Given the description of an element on the screen output the (x, y) to click on. 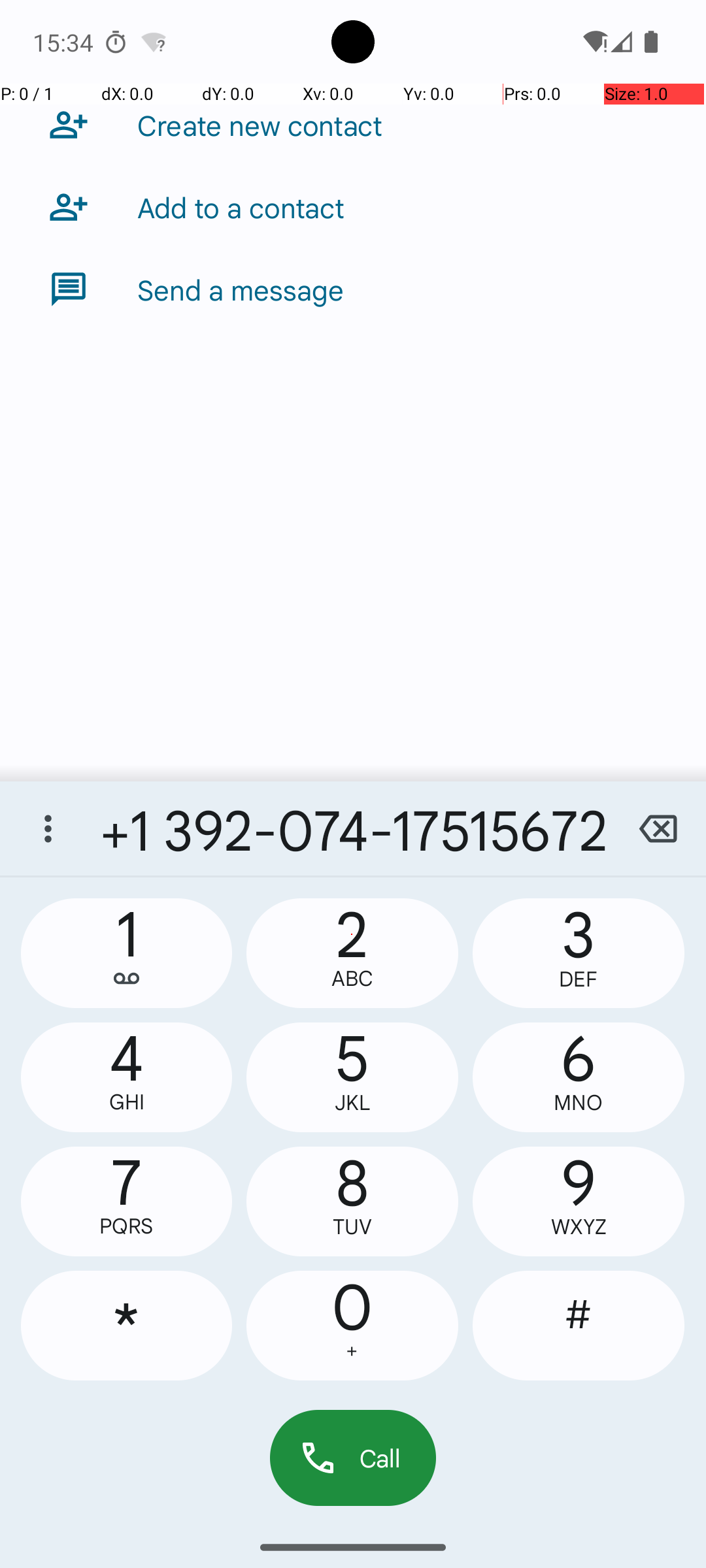
+1 392-074-17515672 Element type: android.widget.EditText (352, 828)
